Given the description of an element on the screen output the (x, y) to click on. 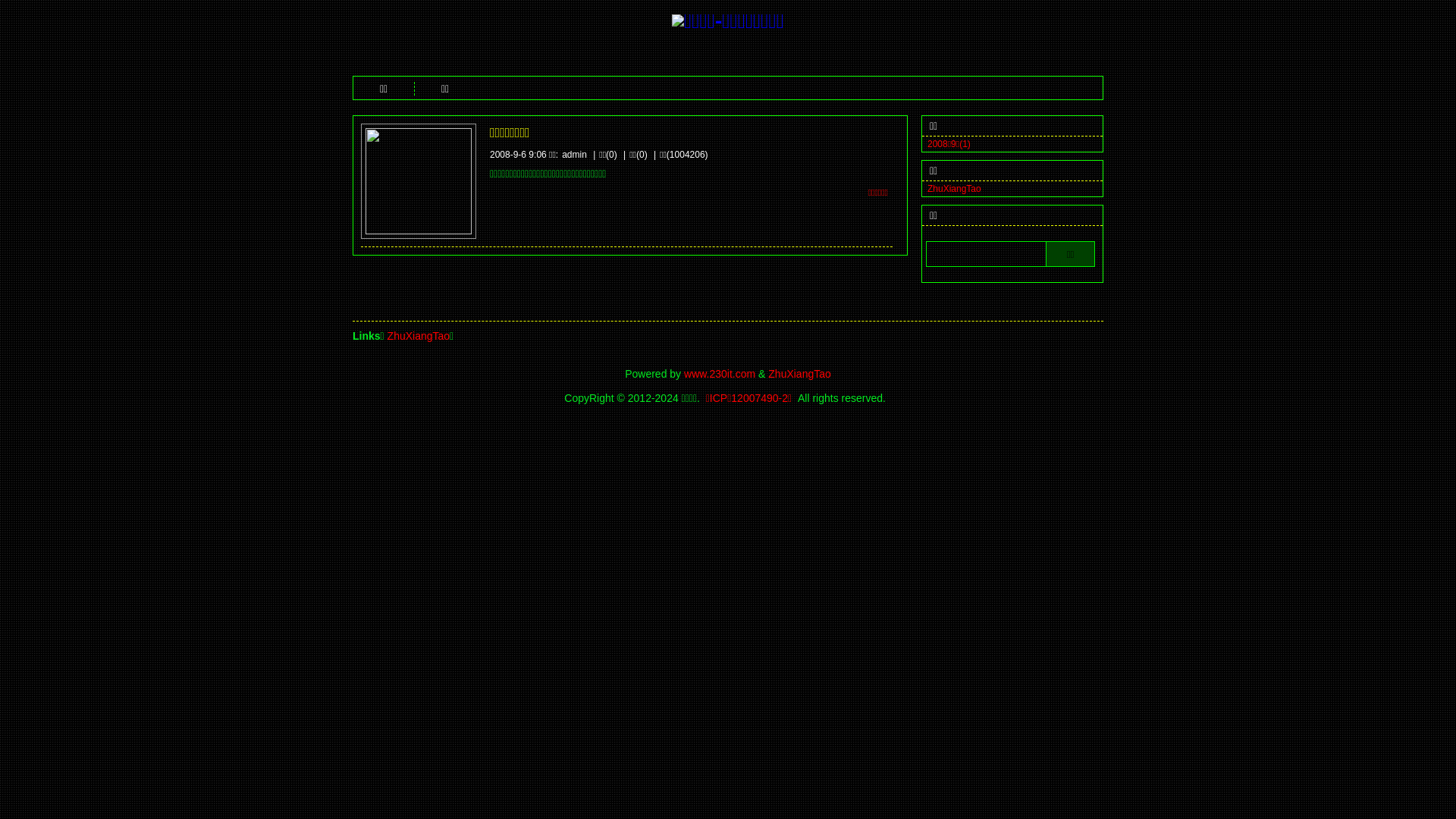
www.230it.com Element type: text (719, 373)
ZhuXiangTao Element type: text (954, 188)
ZhuXiangTao Element type: text (799, 373)
admin Element type: text (573, 154)
ZhuXiangTao Element type: text (418, 335)
